Given the description of an element on the screen output the (x, y) to click on. 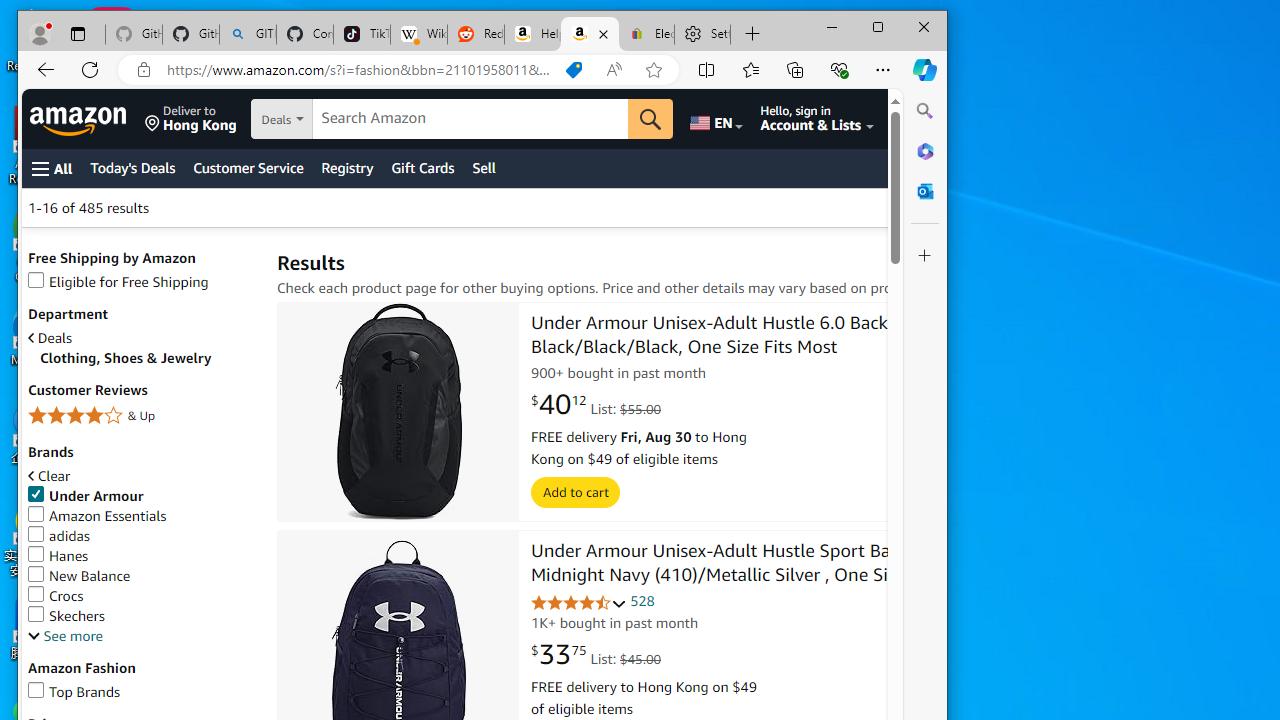
Amazon Essentials (142, 516)
Under Armour (85, 496)
adidas (58, 535)
Search Amazon (470, 119)
Eligible for Free Shipping (142, 282)
$33.75 List: $45.00 (596, 655)
Eligible for Free Shipping (118, 282)
adidas (142, 536)
